Given the description of an element on the screen output the (x, y) to click on. 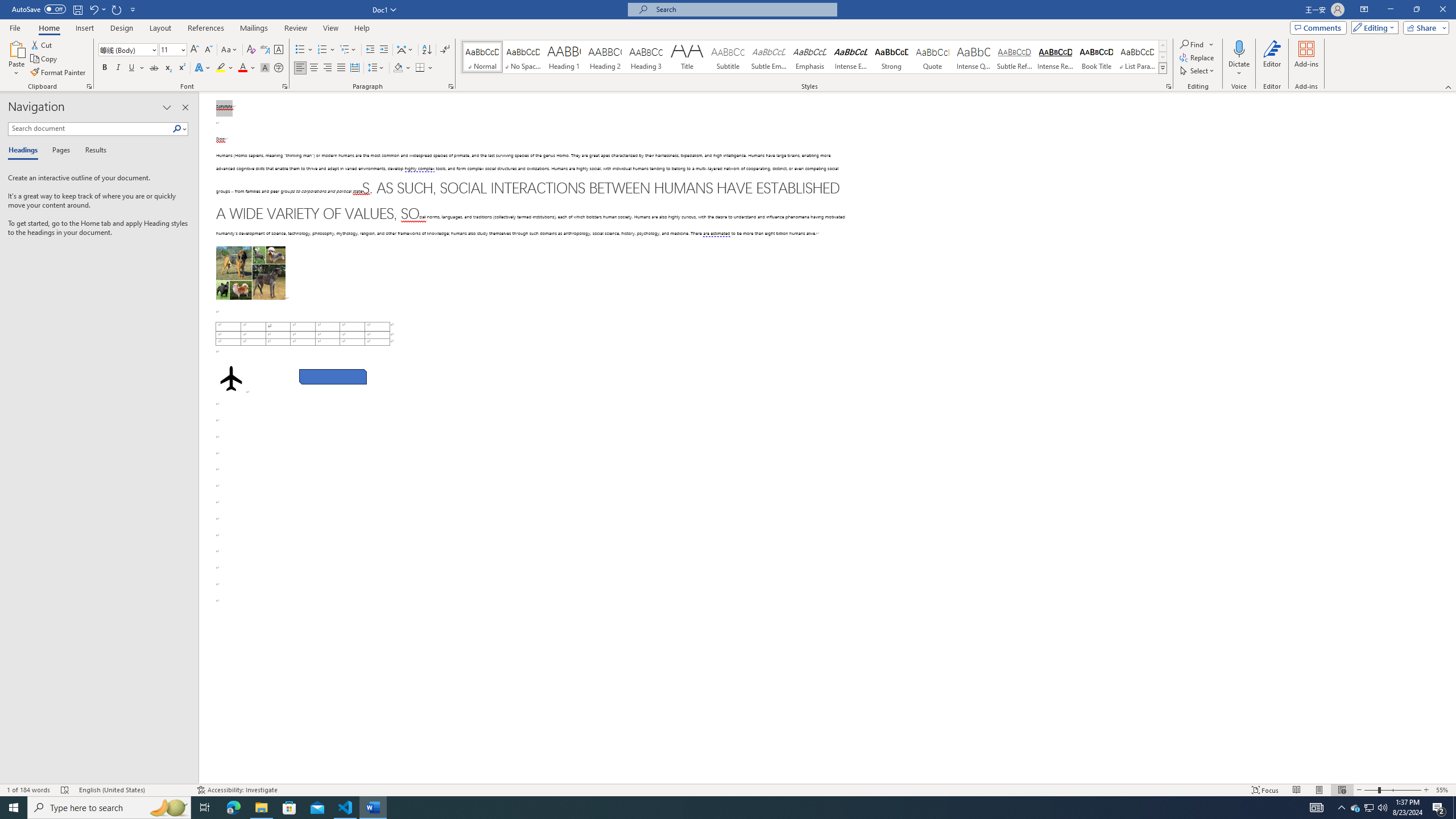
Asian Layout (405, 49)
Font... (285, 85)
Design (122, 28)
Spelling and Grammar Check Errors (65, 790)
Collapse the Ribbon (1448, 86)
Layout (160, 28)
Ribbon Display Options (1364, 9)
Mailings (253, 28)
Minimize (1390, 9)
Close (1442, 9)
Subtitle (727, 56)
Heading 2 (605, 56)
Zoom (1392, 790)
Comments (1318, 27)
